Given the description of an element on the screen output the (x, y) to click on. 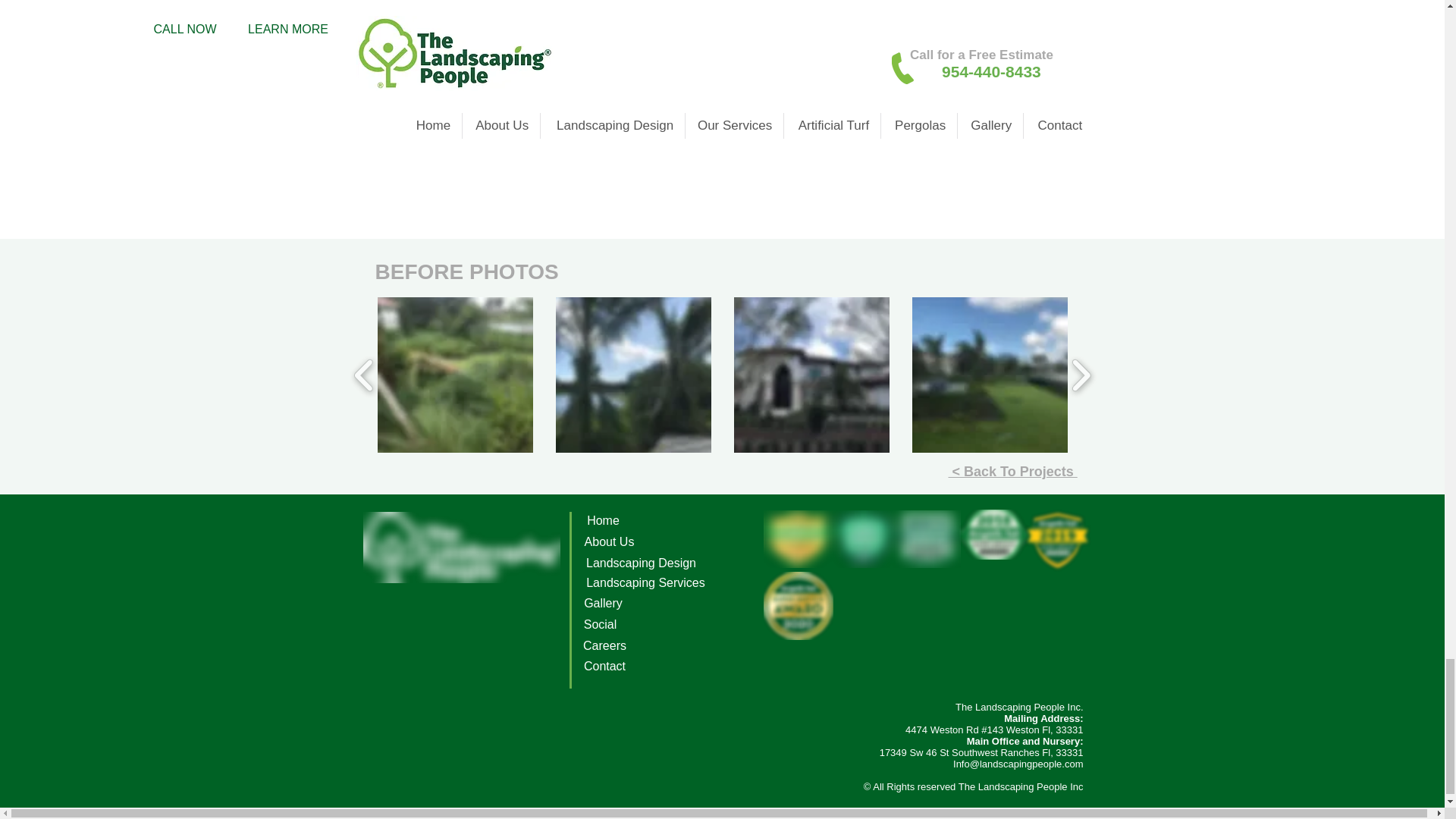
Home (602, 521)
About Us (608, 542)
Landscaping Design (640, 562)
Gallery (602, 603)
Contact (604, 666)
Social (599, 624)
Careers (604, 645)
Landscaping Services (645, 583)
